Given the description of an element on the screen output the (x, y) to click on. 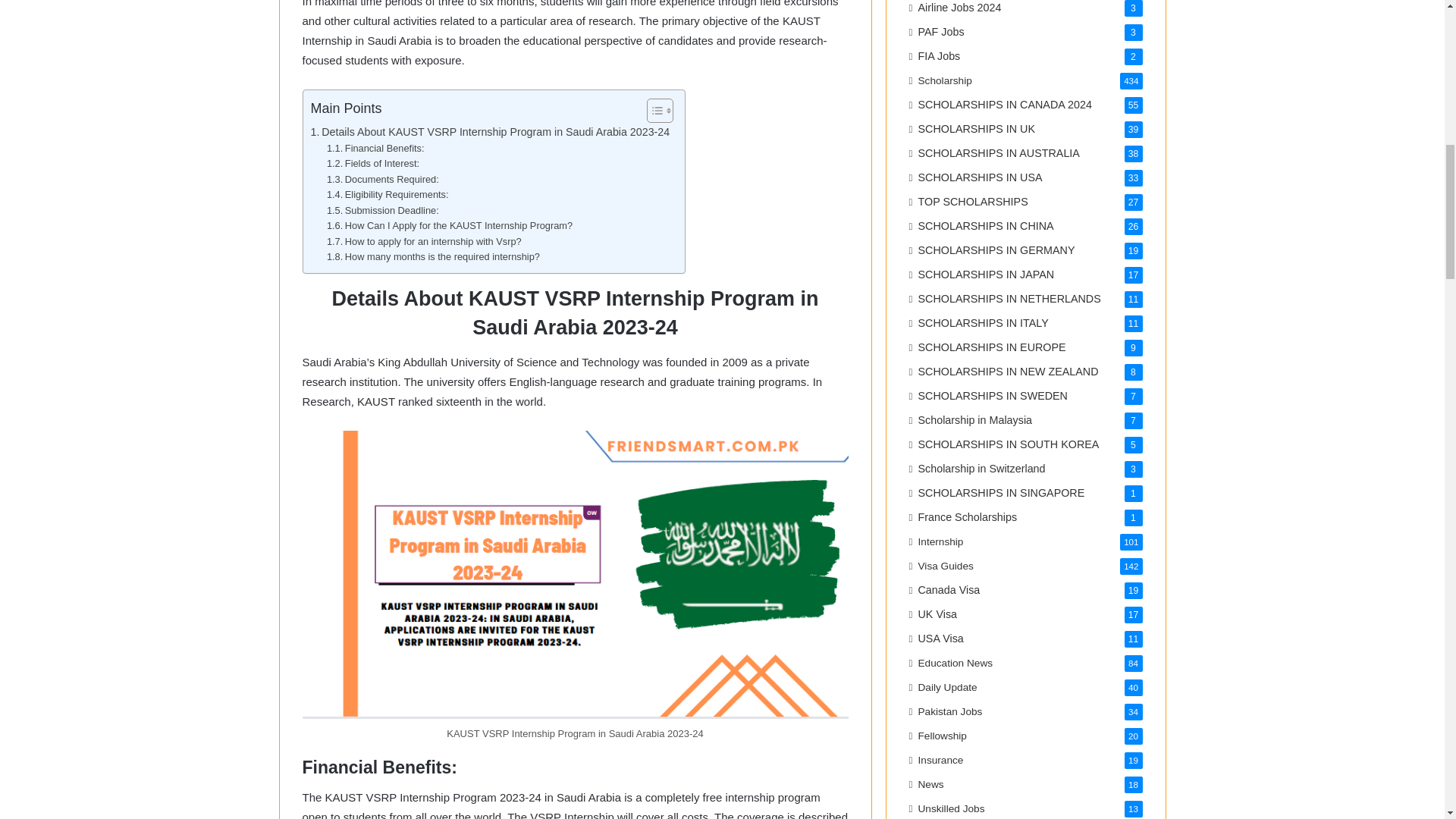
Fields of Interest: (372, 163)
Financial Benefits: (375, 148)
